Given the description of an element on the screen output the (x, y) to click on. 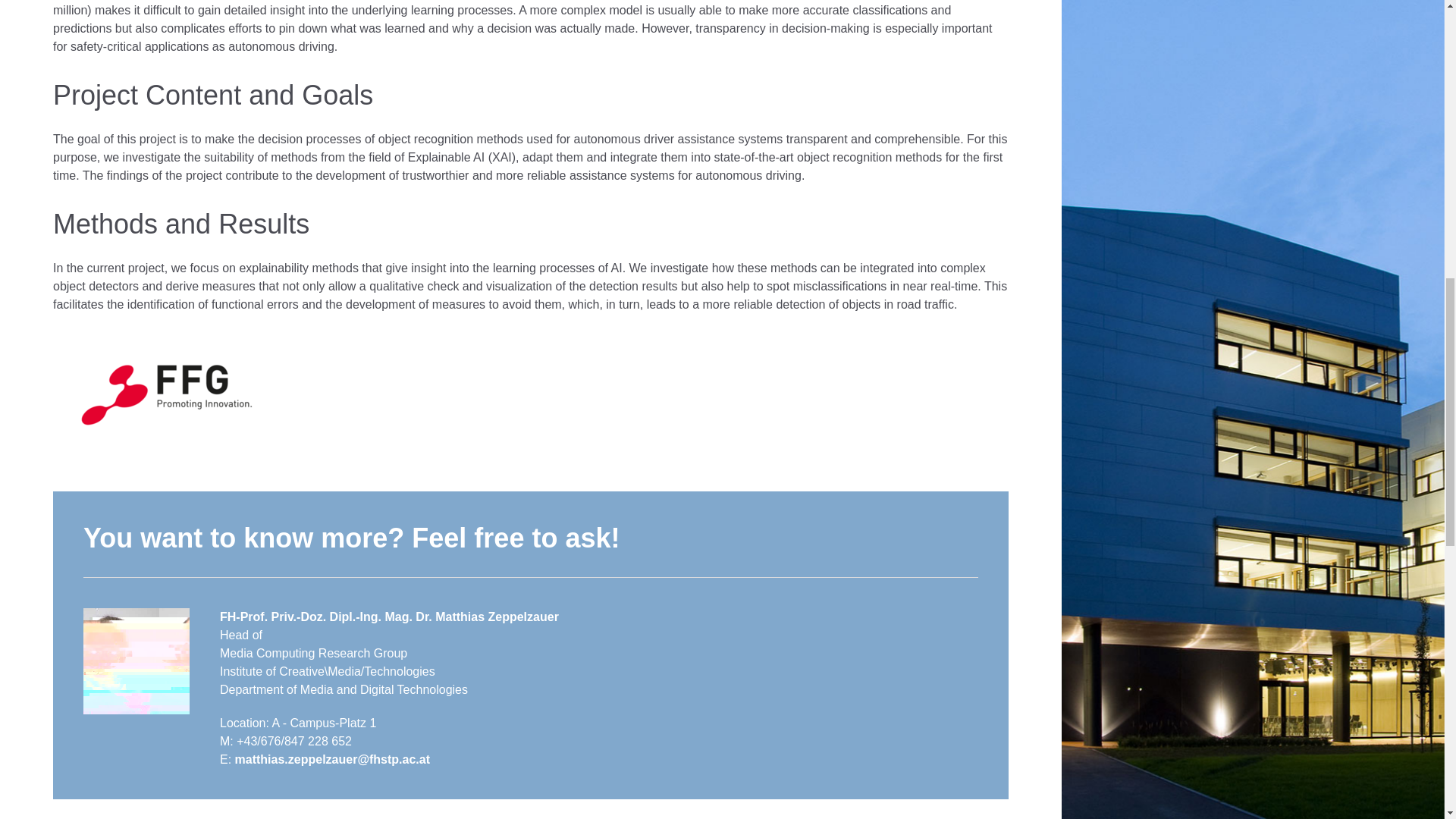
FH-Prof. Priv.-Doz. Dipl.-Ing. Mag. Dr. Matthias Zeppelzauer (389, 616)
